Given the description of an element on the screen output the (x, y) to click on. 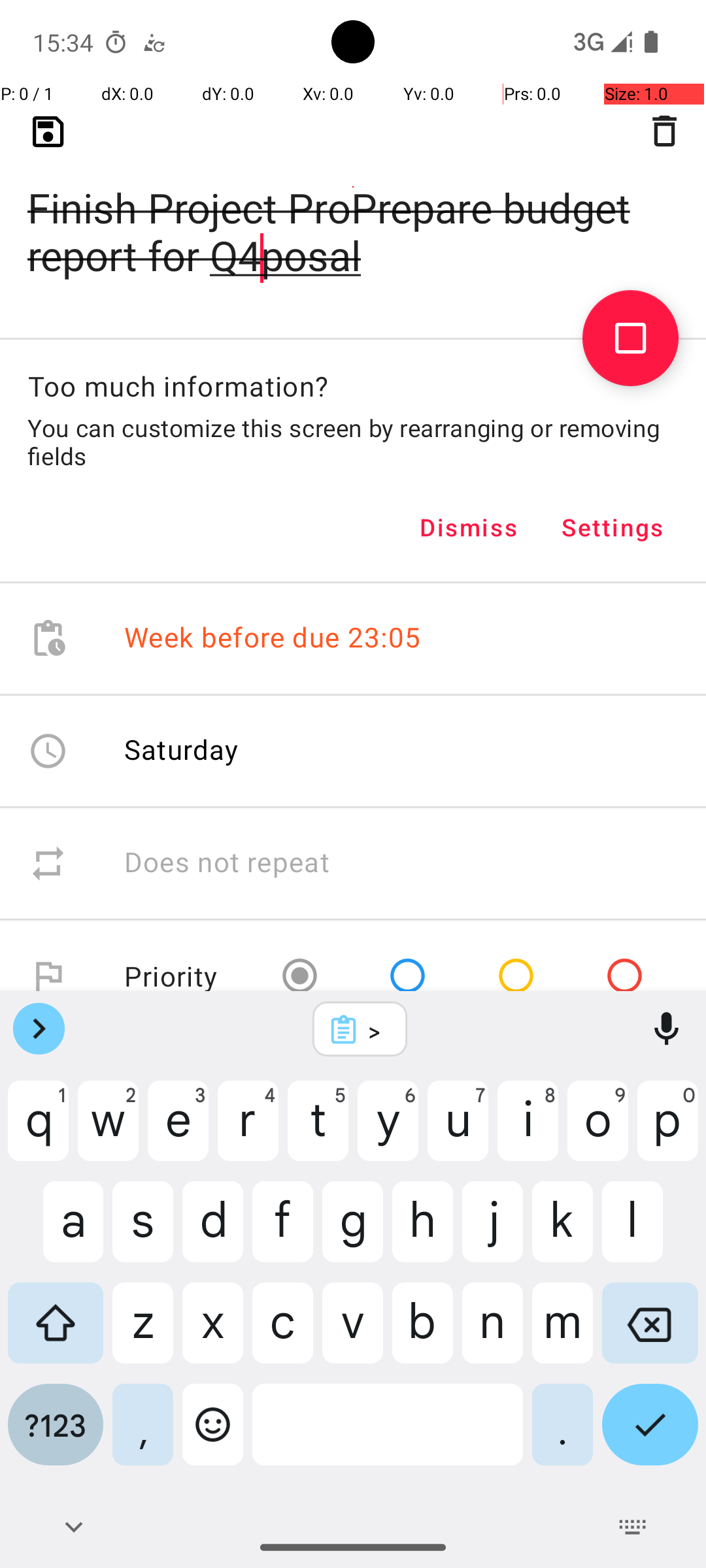
Finish Project ProPrepare budget report for Q4posal Element type: android.widget.EditText (353, 210)
Saturday Element type: android.widget.TextView (181, 748)
Week before due 23:05 Element type: android.widget.TextView (272, 638)
